Given the description of an element on the screen output the (x, y) to click on. 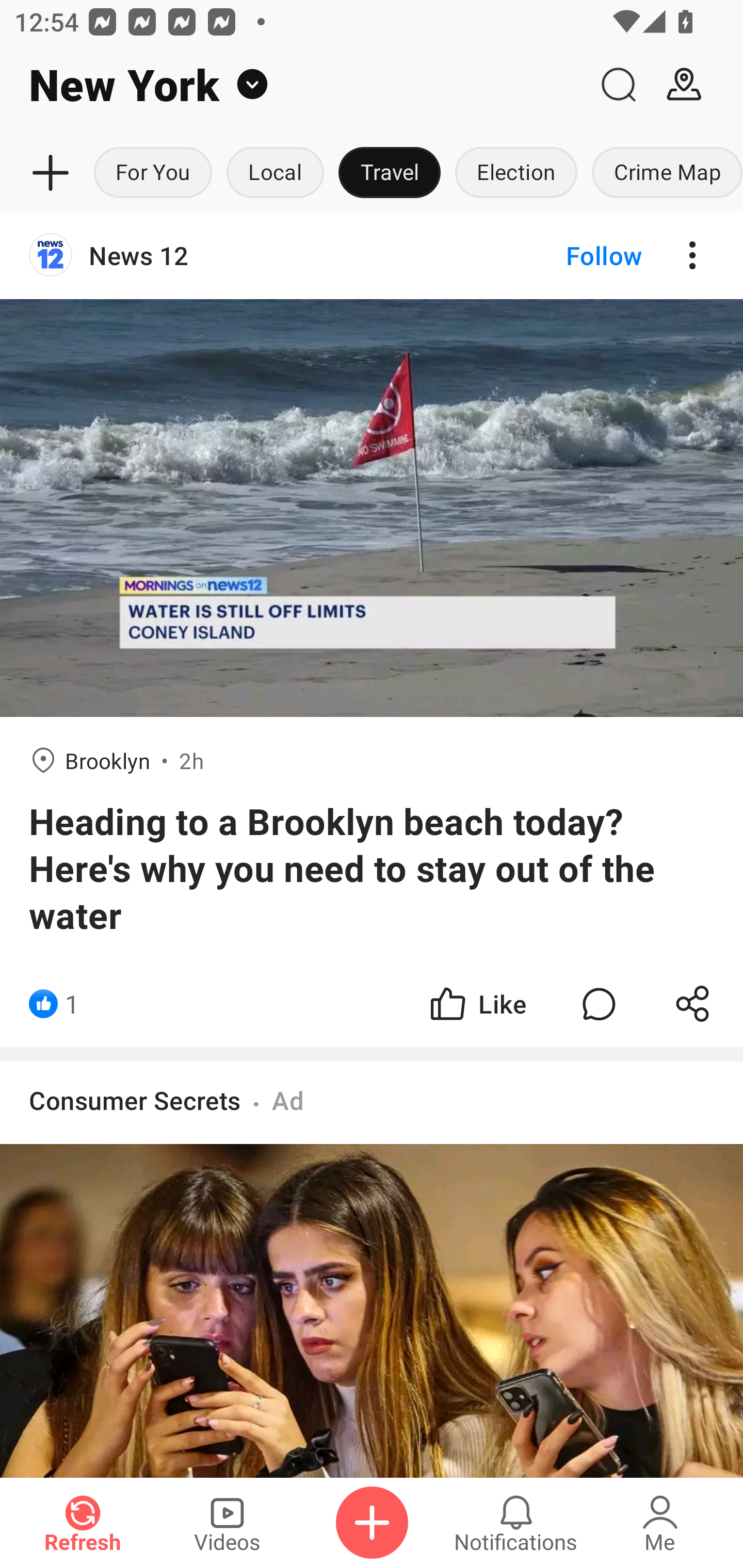
New York (292, 84)
For You (152, 172)
Local (275, 172)
Travel (389, 172)
Election (516, 172)
Crime Map (663, 172)
News 12 Follow (371, 255)
Follow (569, 255)
1 (72, 1003)
Like (476, 1003)
Consumer Secrets (134, 1099)
Videos (227, 1522)
Notifications (516, 1522)
Me (659, 1522)
